Given the description of an element on the screen output the (x, y) to click on. 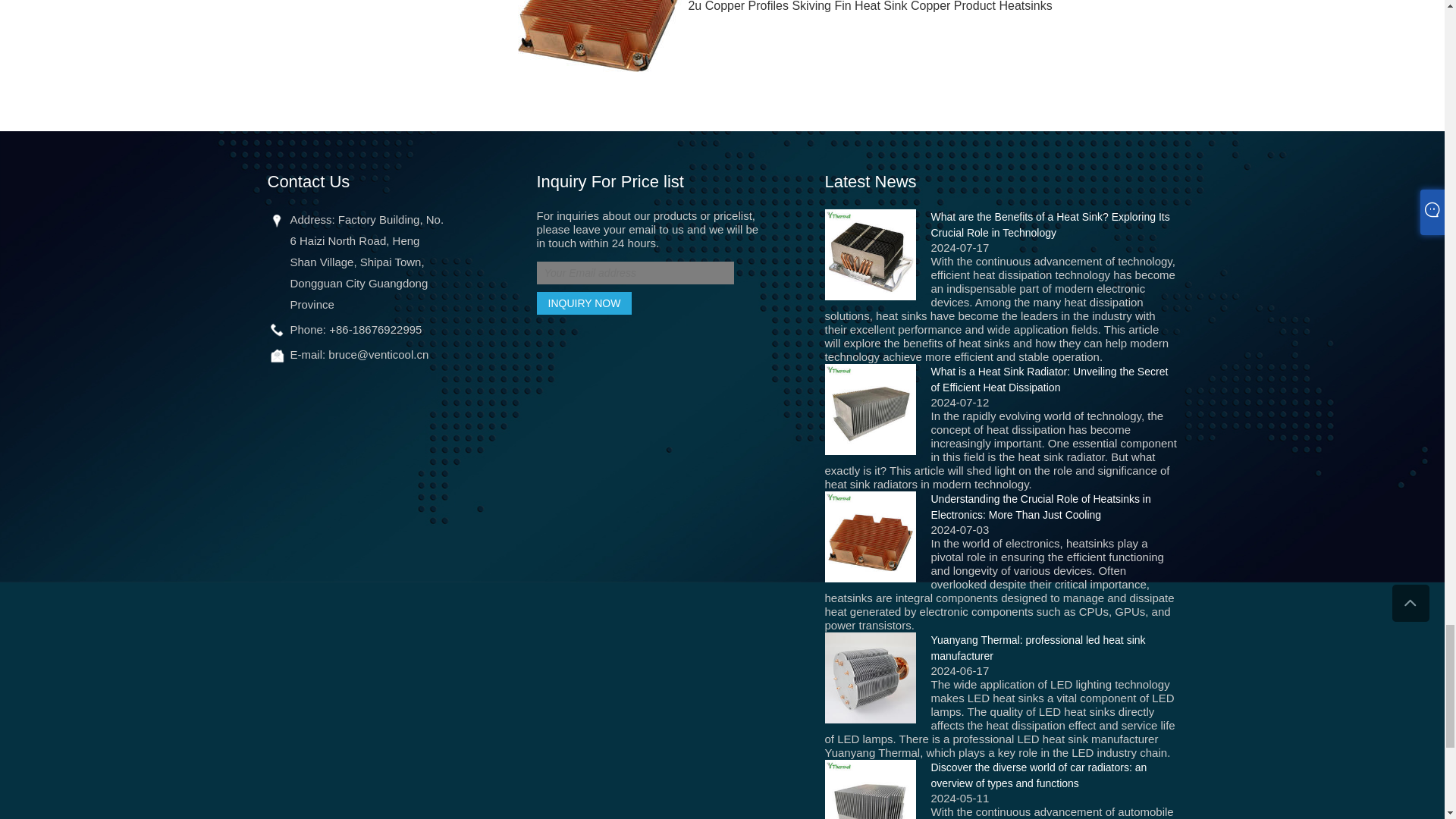
INQUIRY NOW (584, 302)
